Given the description of an element on the screen output the (x, y) to click on. 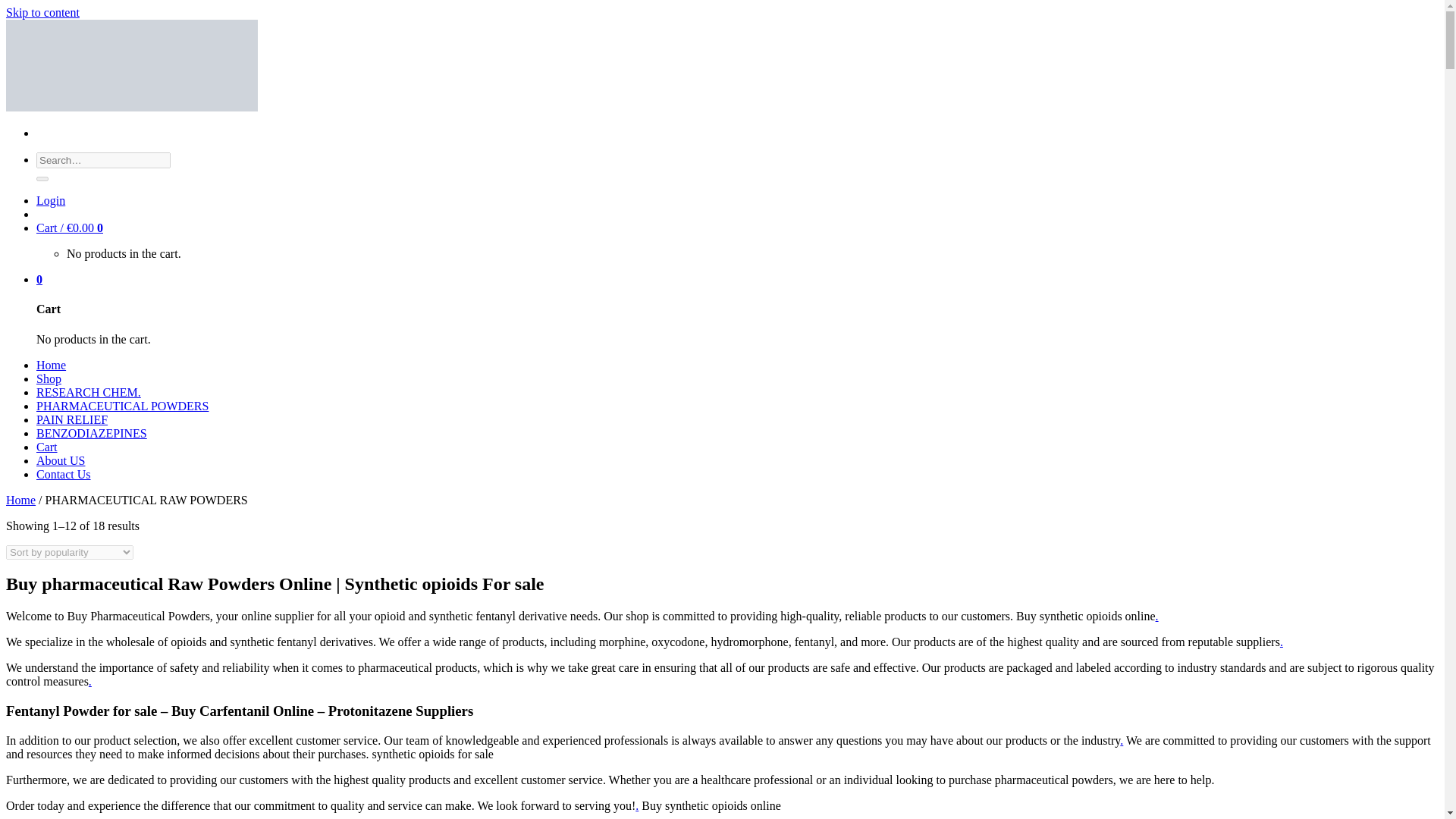
Cart (47, 446)
Cart (69, 227)
PAIN RELIEF (71, 419)
PHARMACEUTICAL POWDERS (122, 405)
Home (50, 364)
Home (19, 499)
BENZODIAZEPINES (91, 432)
About US (60, 460)
Skip to content (42, 11)
Shop (48, 378)
